Given the description of an element on the screen output the (x, y) to click on. 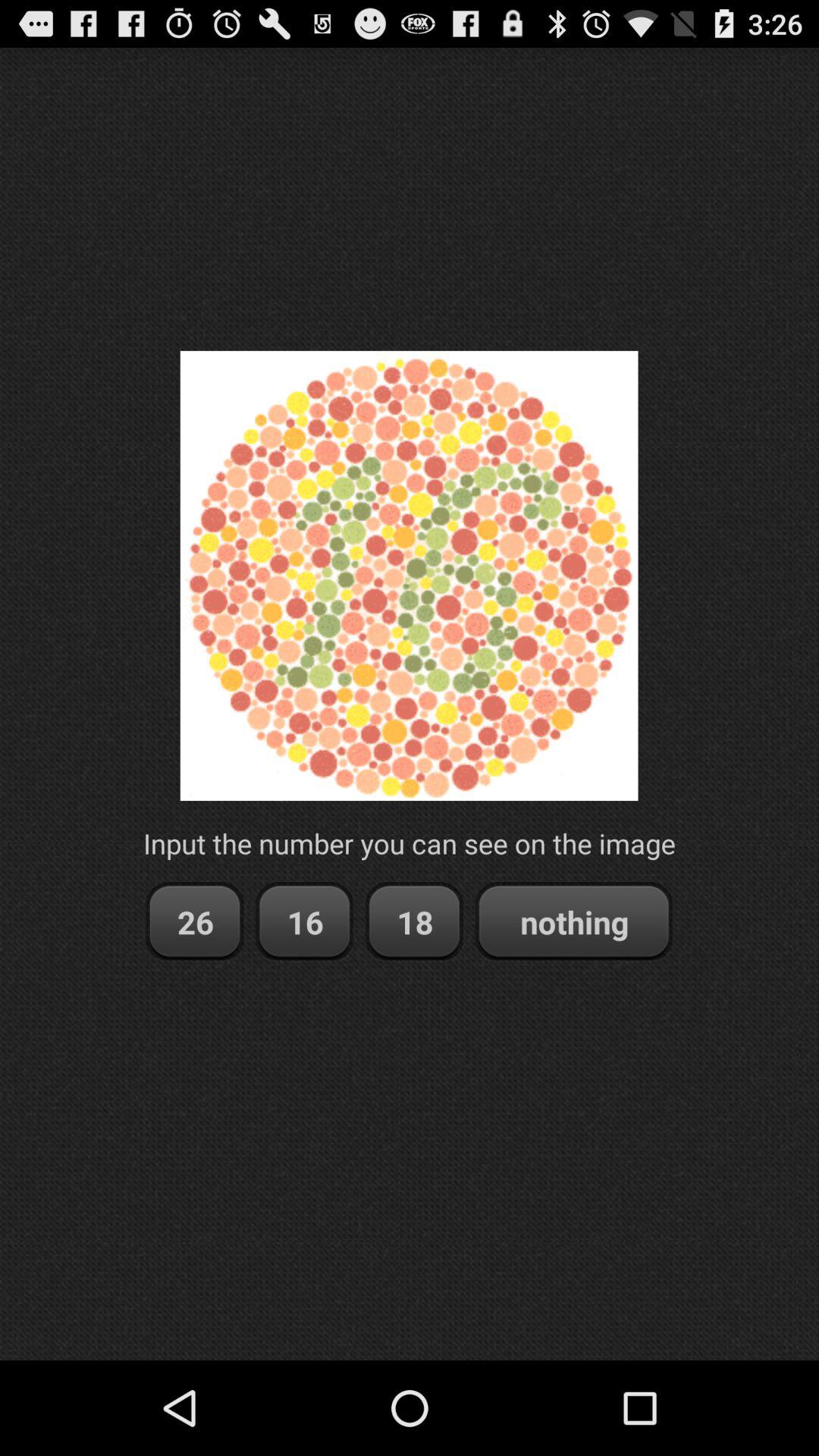
turn on item next to 18 button (304, 921)
